Given the description of an element on the screen output the (x, y) to click on. 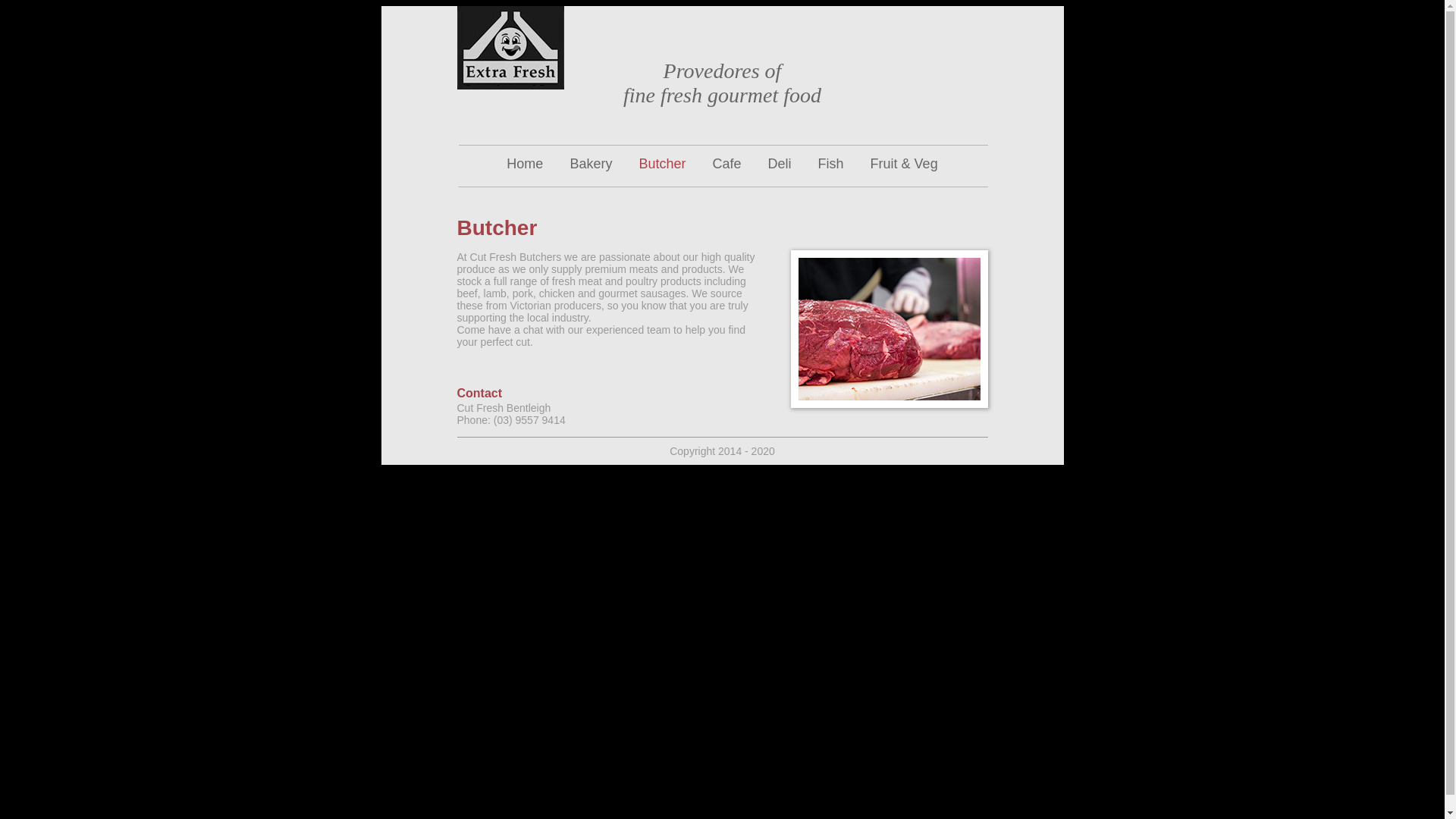
Deli Element type: text (779, 163)
Home Element type: text (524, 163)
Fish Element type: text (831, 163)
Bakery Element type: text (590, 163)
Cafe Element type: text (726, 163)
Fruit & Veg Element type: text (904, 163)
Butcher Element type: text (661, 163)
